Given the description of an element on the screen output the (x, y) to click on. 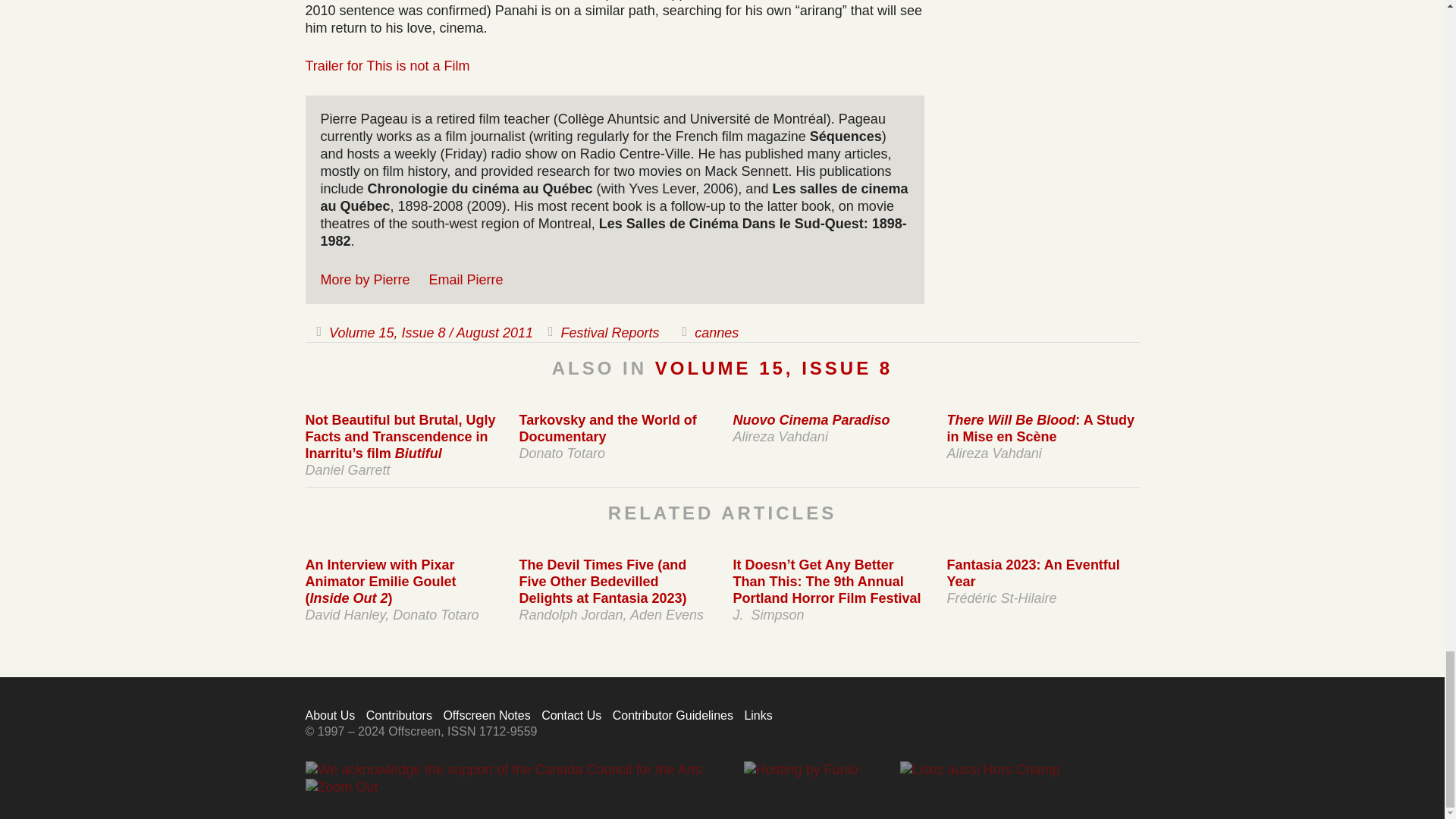
More by Pierre (364, 279)
Trailer for This is not a Film (386, 65)
VOLUME 15, ISSUE 8 (773, 367)
Tarkovsky and the World of Documentary (606, 428)
cannes (716, 332)
Nuovo Cinema Paradiso (810, 419)
Festival Reports (609, 332)
Email Pierre (466, 279)
